Given the description of an element on the screen output the (x, y) to click on. 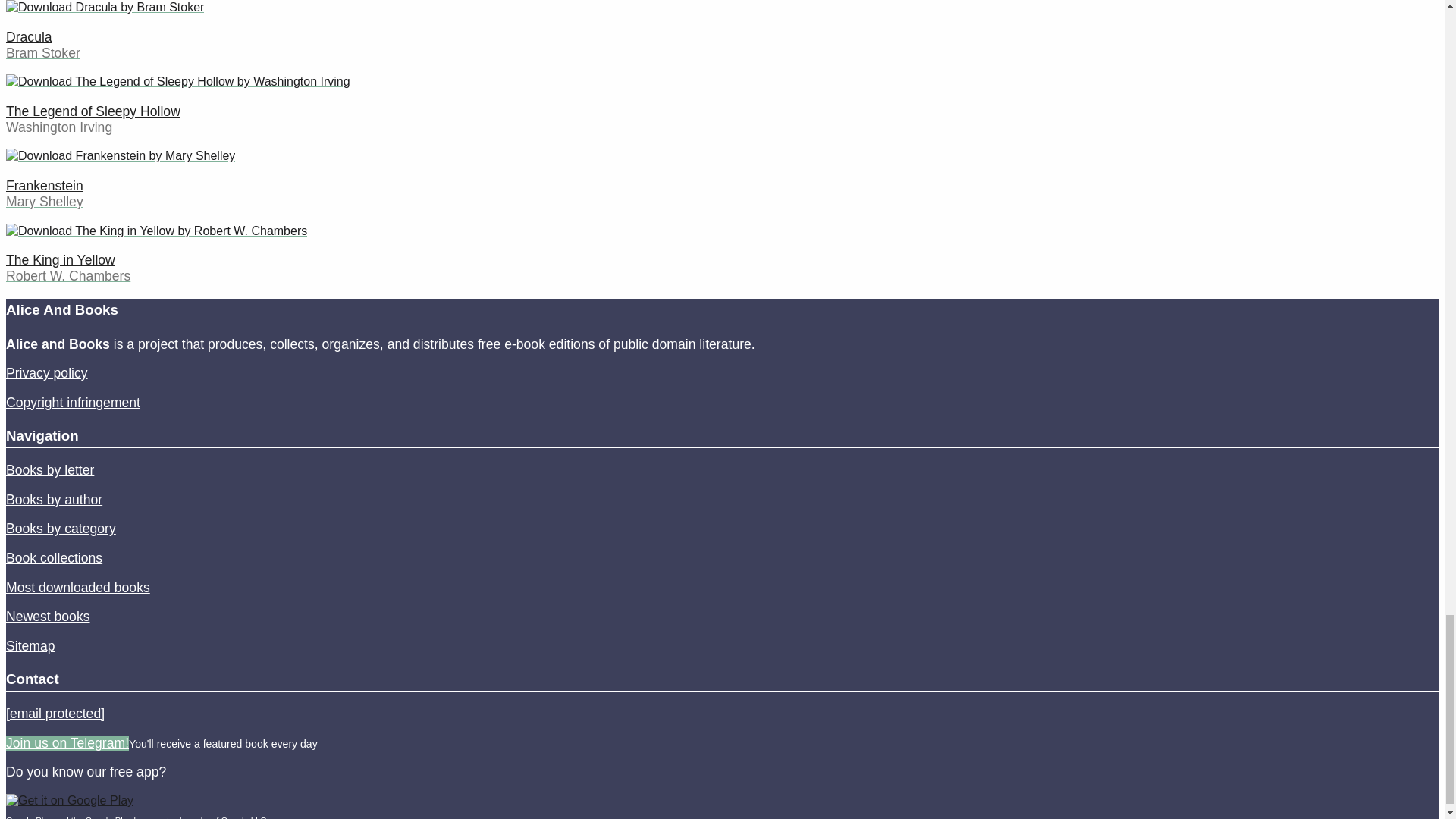
Download The King in Yellow by Robert W. Chambers (156, 230)
Copyright infringement  (72, 402)
The Legend of Sleepy Hollow (92, 111)
Newest books (47, 616)
Download Frankenstein by Mary Shelley (119, 156)
Most downloaded books (77, 587)
Privacy policy (46, 372)
Download Dracula by Bram Stoker (104, 7)
Dracula (28, 37)
Bram Stoker (42, 52)
Download The Legend of Sleepy Hollow by Washington Irving (177, 82)
Book collections (53, 557)
